Given the description of an element on the screen output the (x, y) to click on. 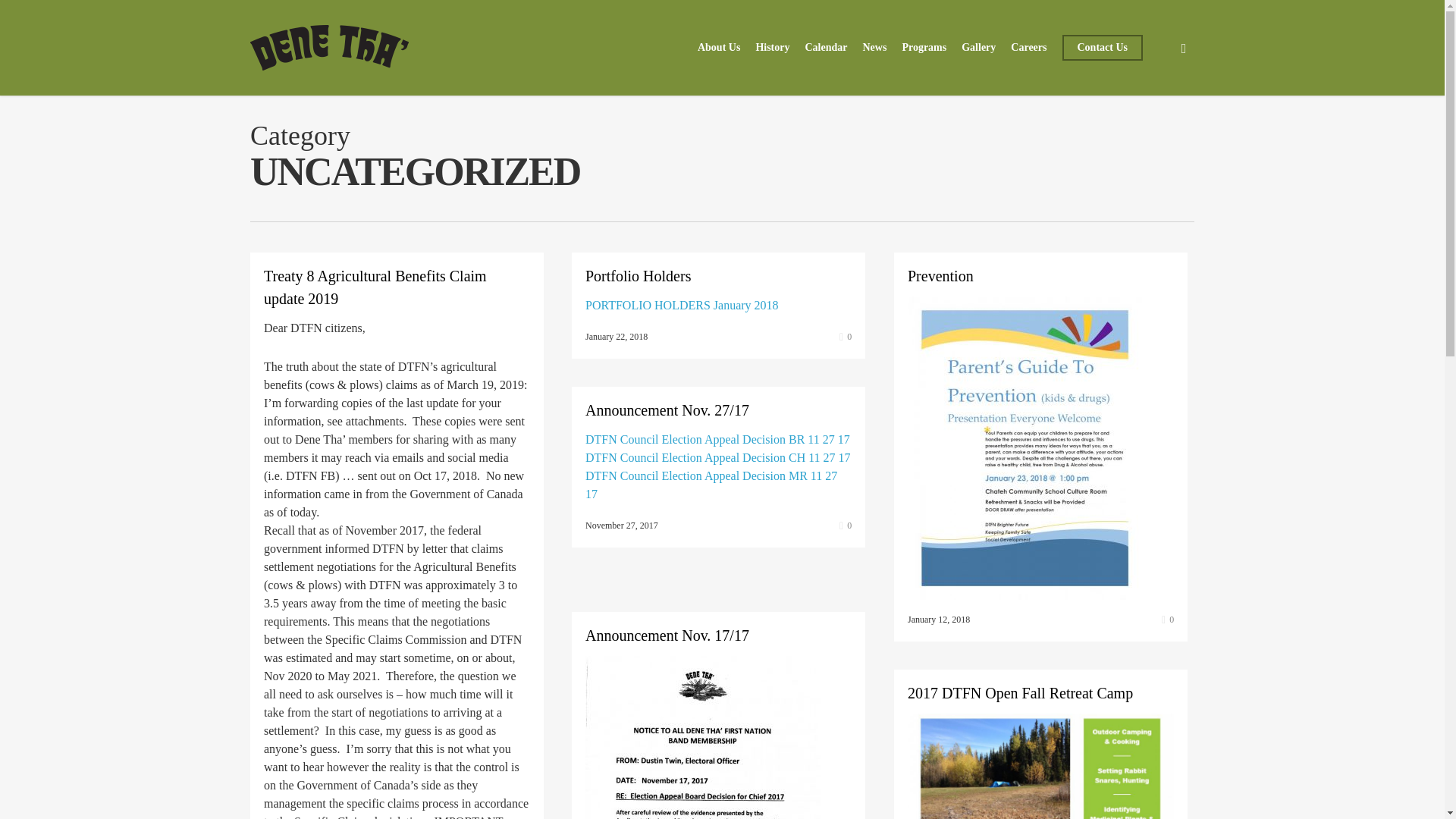
0 (845, 336)
Portfolio Holders (637, 275)
0 (1167, 619)
About Us (718, 47)
Treaty 8 Agricultural Benefits Claim update 2019 (374, 287)
Contact Us (1101, 47)
Love this (845, 336)
History (772, 47)
Calendar (826, 47)
Love this (1167, 619)
Careers (1028, 47)
PORTFOLIO HOLDERS January 2018 (681, 305)
Prevention (940, 275)
News (873, 47)
Programs (923, 47)
